Given the description of an element on the screen output the (x, y) to click on. 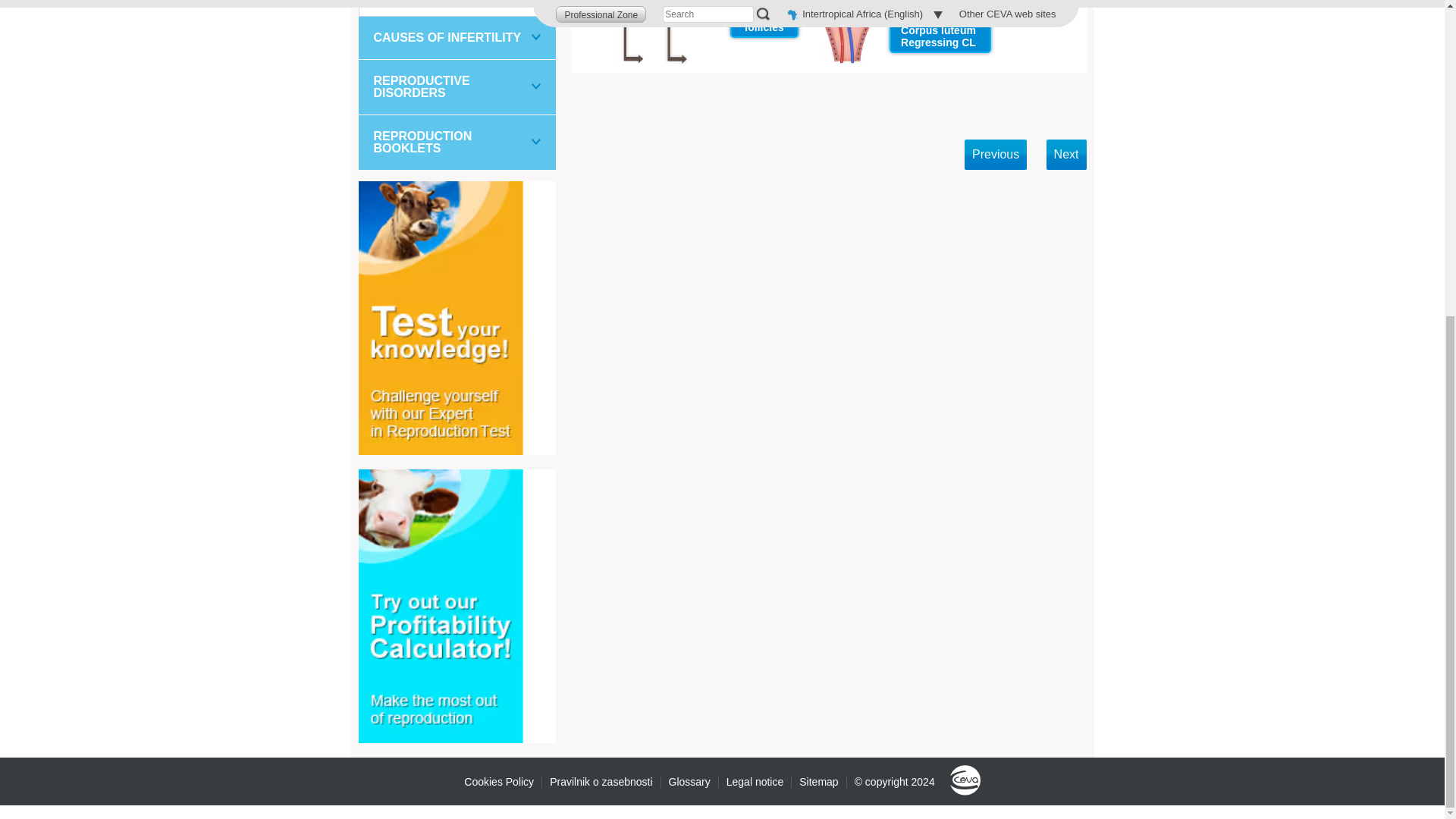
Causes of infertility  (456, 37)
